Given the description of an element on the screen output the (x, y) to click on. 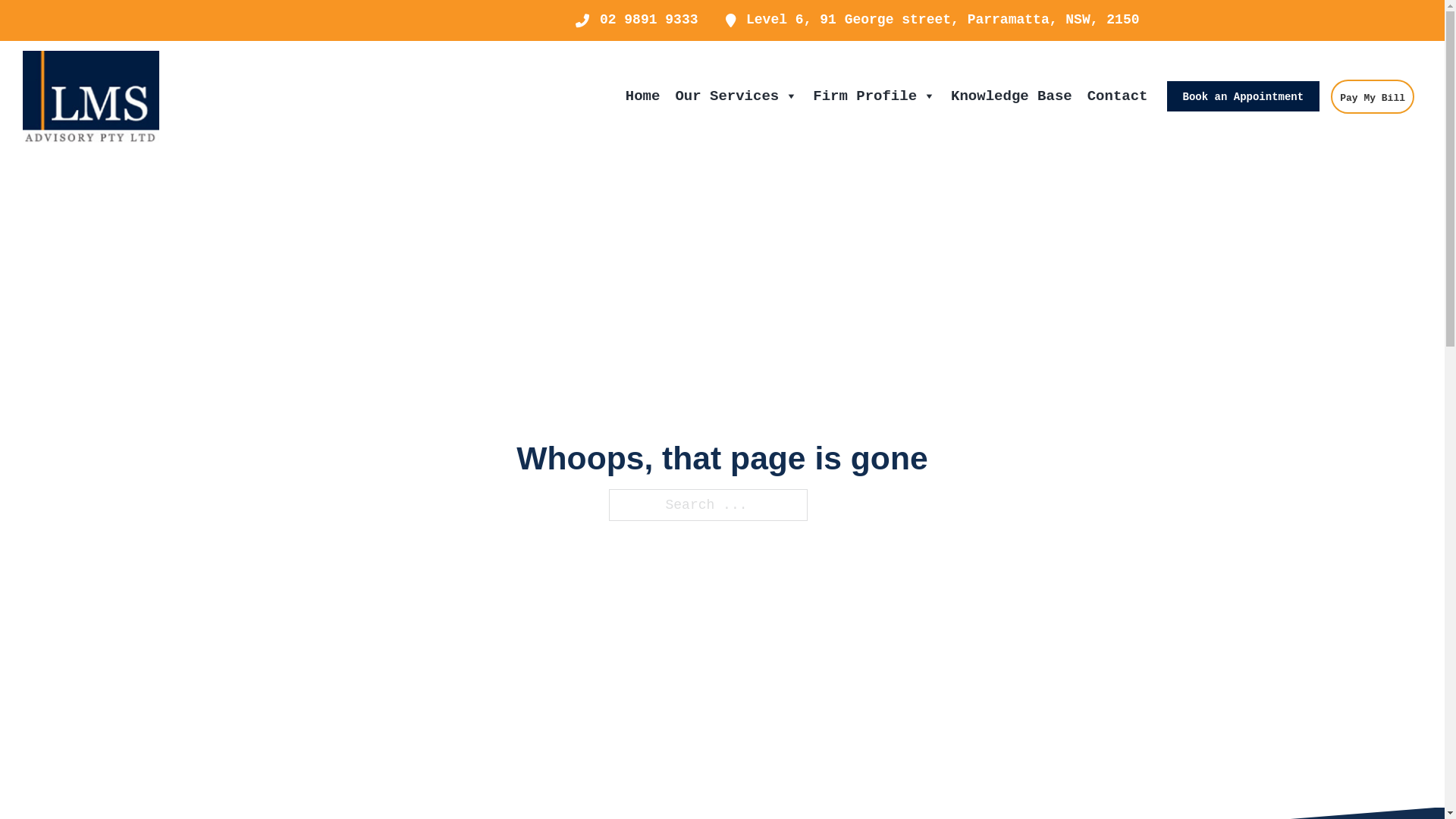
Pay My Bill Element type: text (1372, 96)
Contact Element type: text (1117, 95)
02 9891 9333 Element type: text (636, 19)
Knowledge Base Element type: text (1011, 95)
Firm Profile Element type: text (874, 95)
Book an Appointment Element type: text (1243, 96)
Home Element type: text (643, 95)
Our Services Element type: text (736, 95)
Level 6, 91 George street, Parramatta, NSW, 2150 Element type: text (932, 19)
